Given the description of an element on the screen output the (x, y) to click on. 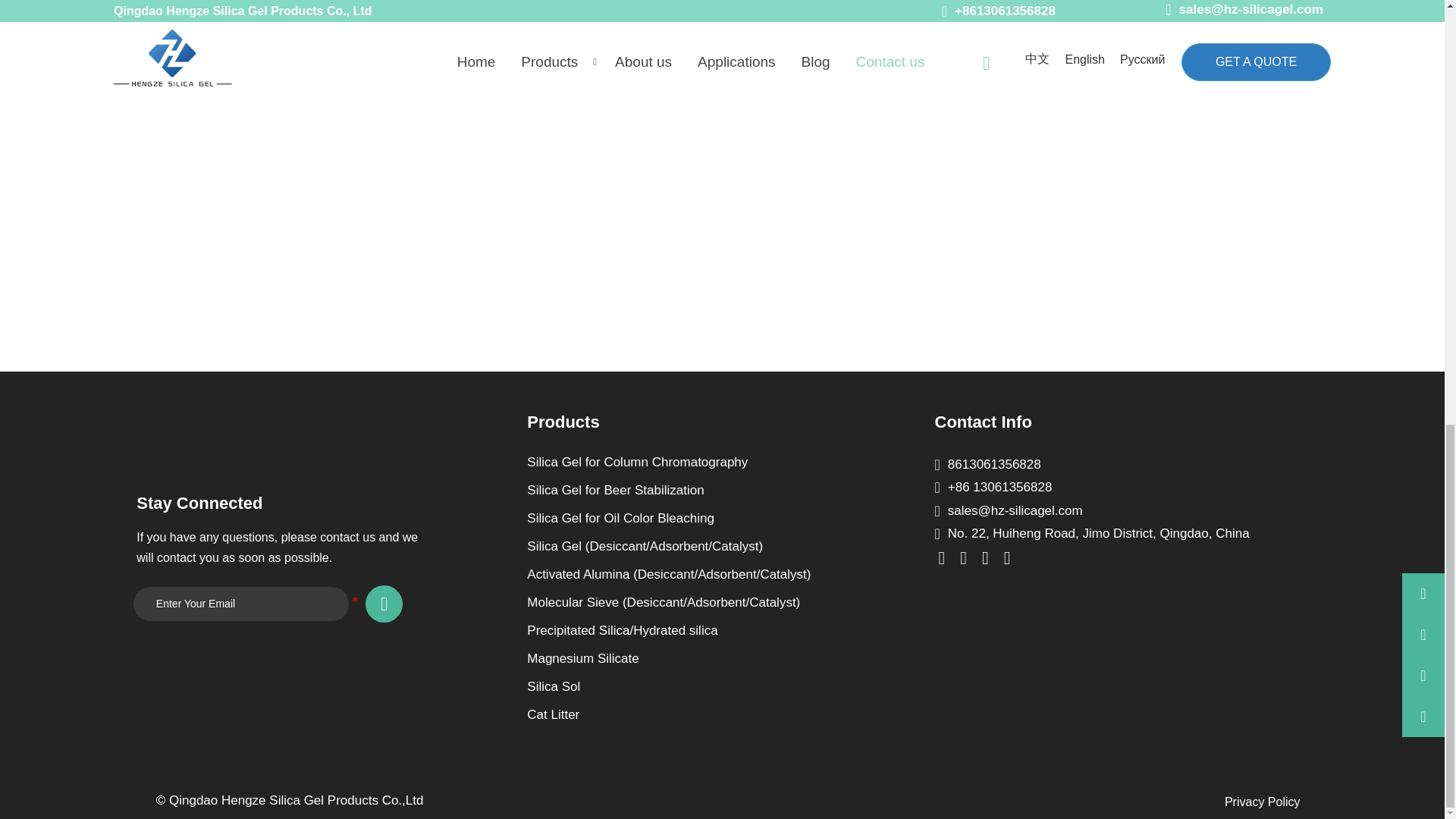
Silica Gel for Oil Color Bleaching (694, 518)
Silica Sol (694, 686)
Magnesium Silicate (694, 658)
Silica Gel for Column Chromatography (694, 462)
Silica Gel for Beer Stabilization (694, 490)
